Given the description of an element on the screen output the (x, y) to click on. 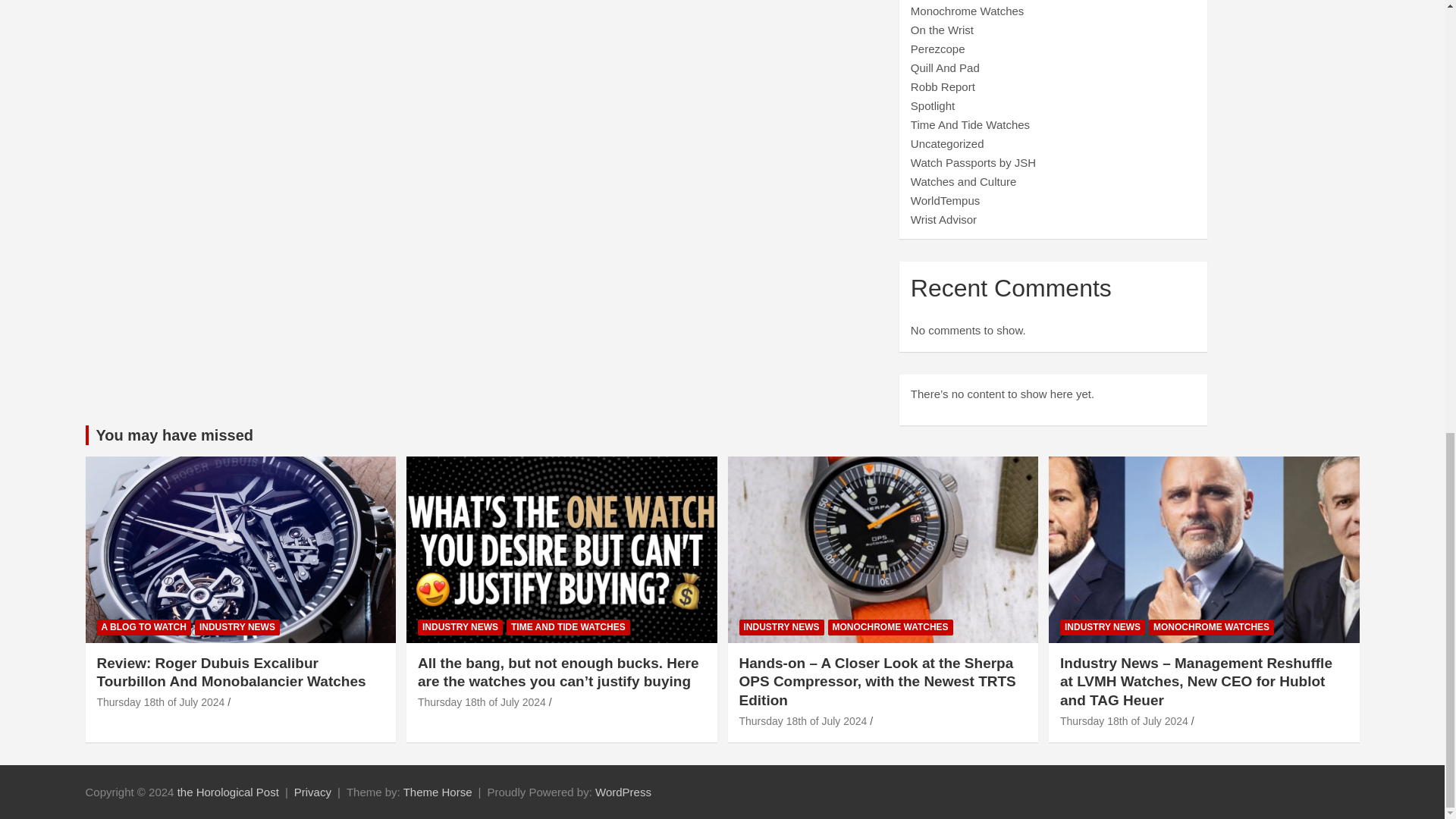
the Horological Post (228, 791)
Theme Horse (437, 791)
WordPress (622, 791)
